Given the description of an element on the screen output the (x, y) to click on. 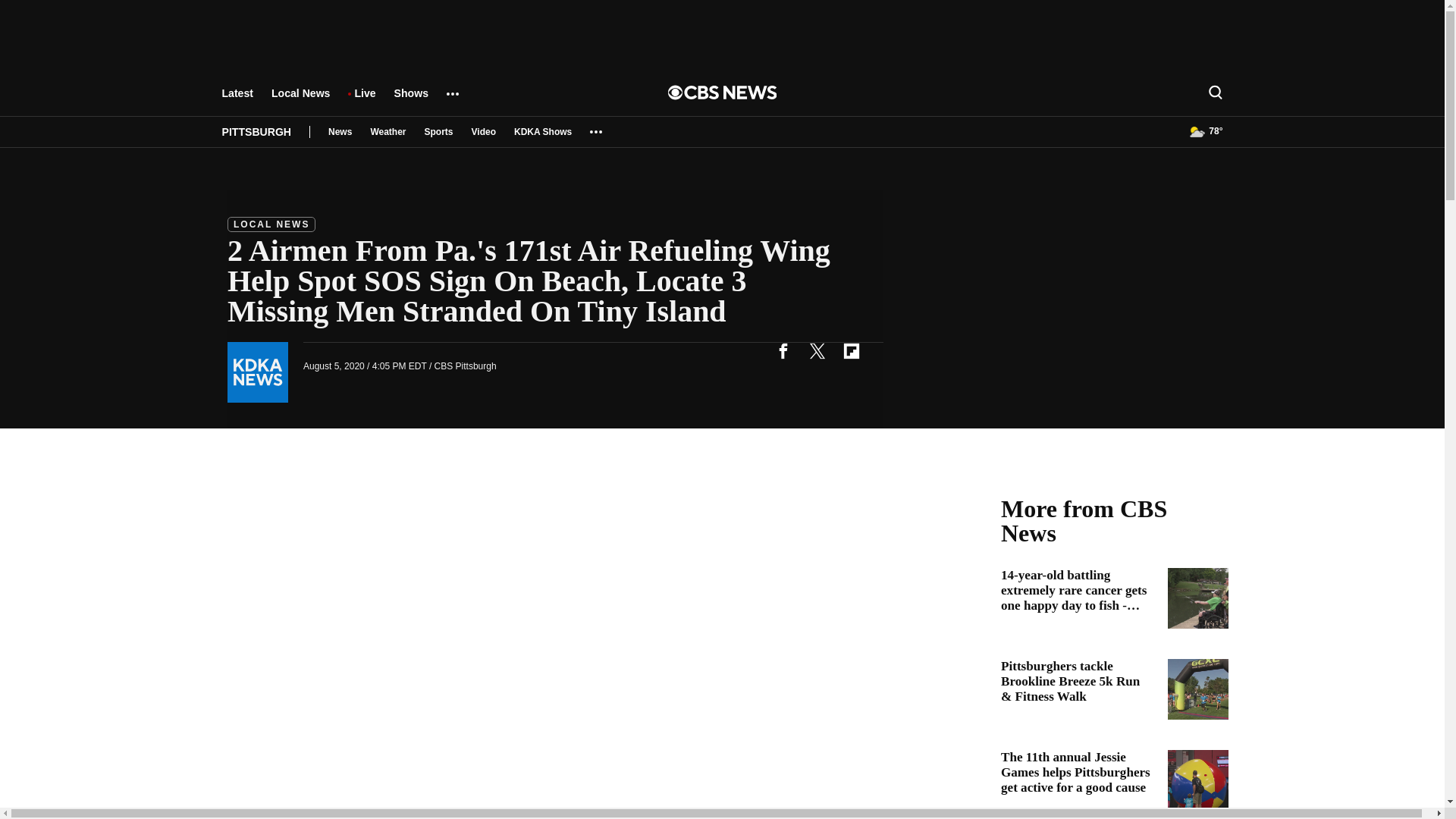
twitter (816, 350)
facebook (782, 350)
Local News (300, 100)
Latest (236, 100)
flipboard (850, 350)
